Given the description of an element on the screen output the (x, y) to click on. 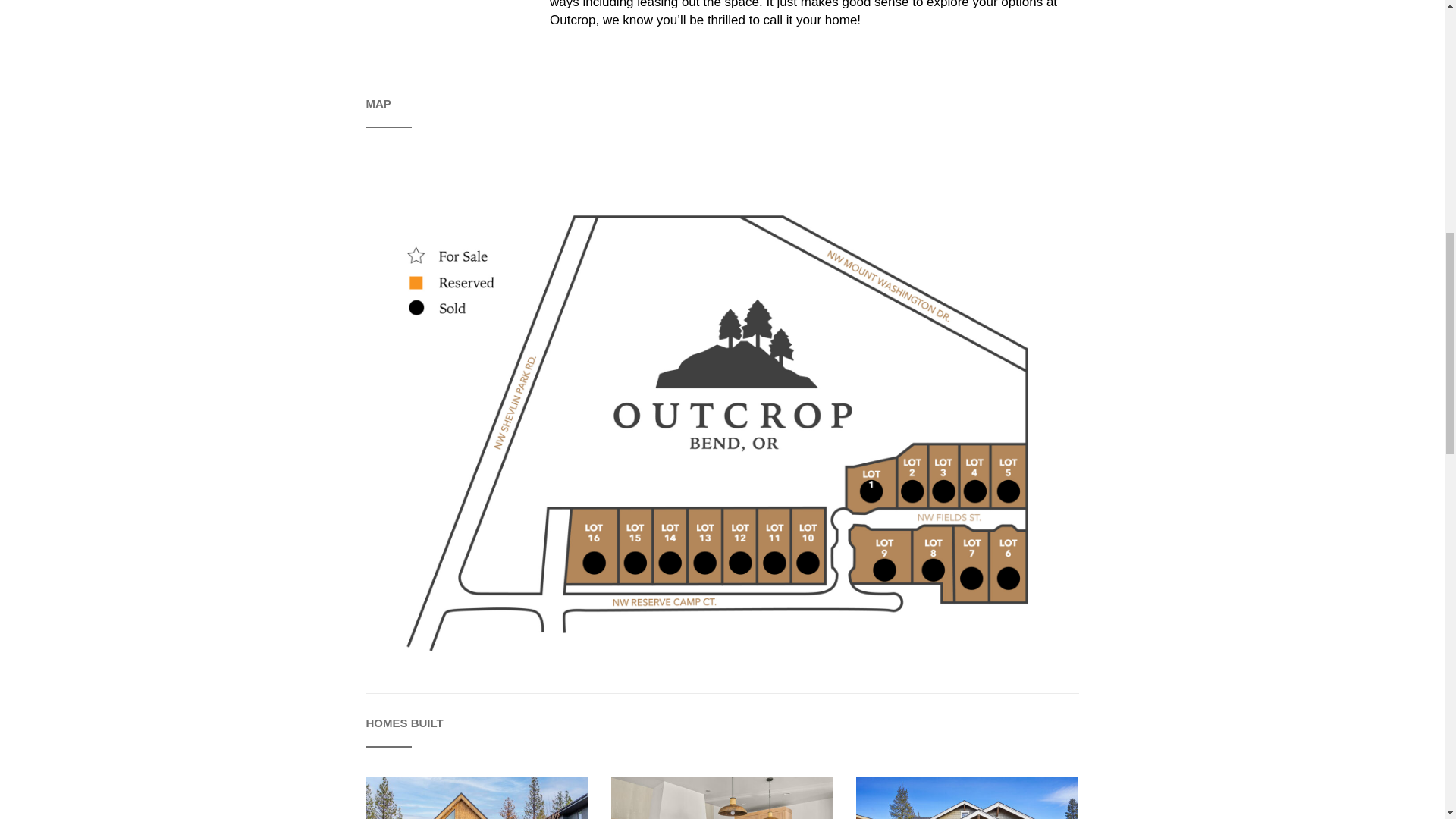
2250 NW Reserve 30 (721, 798)
DSC01925 (967, 798)
Page 1 (814, 14)
